Given the description of an element on the screen output the (x, y) to click on. 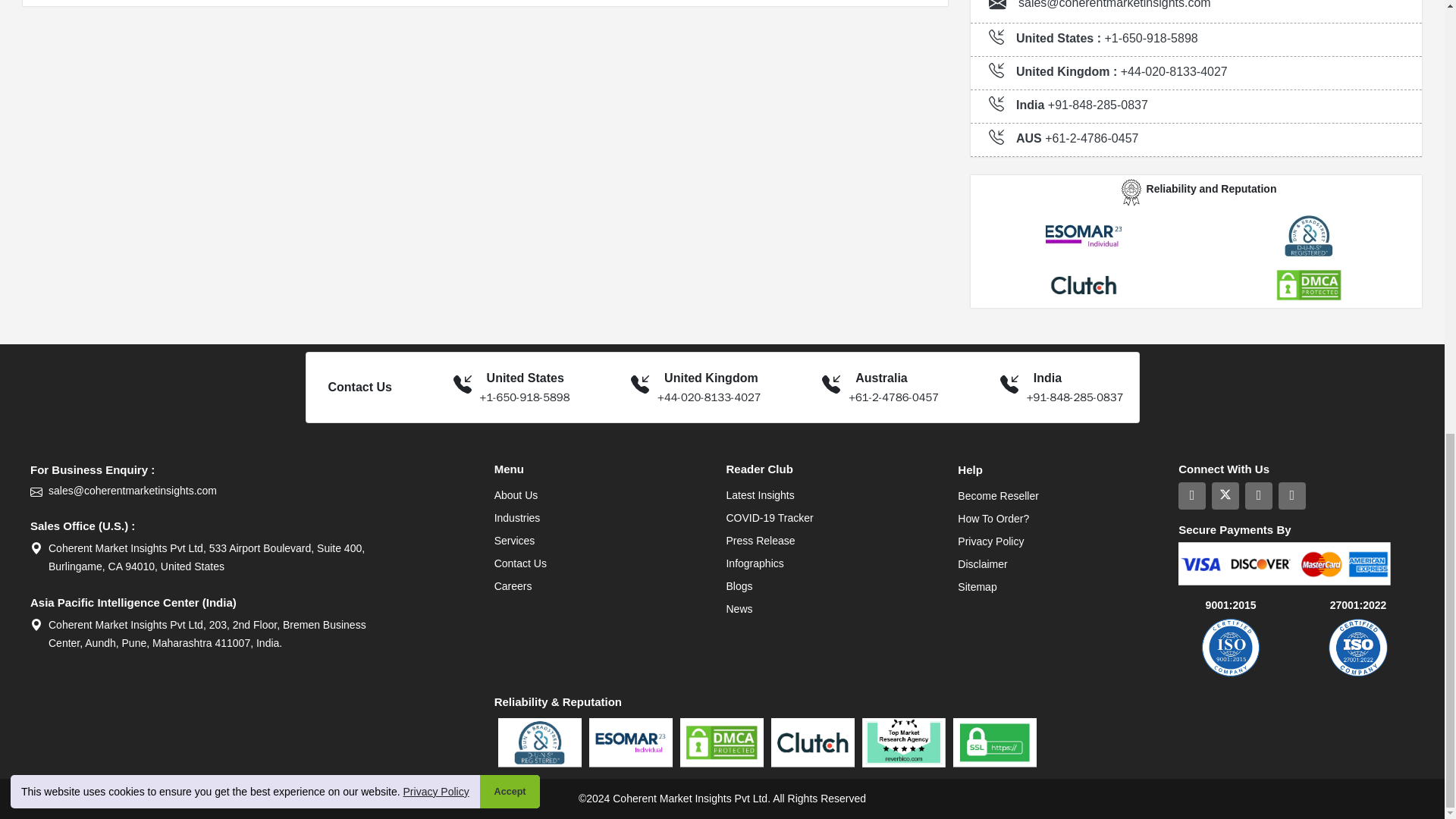
Reliability and Reputation (902, 742)
DMCA Protected (1308, 284)
Clutch (1083, 284)
Reliability and Reputation (812, 742)
DUNS Registered (1308, 236)
Reliability and Reputation (630, 742)
Reliability and Reputation (720, 742)
ISO 27001:2022 (1358, 647)
Reliability and Reputation (994, 742)
Payment Method (1283, 563)
ISO 9001:2015 (1229, 647)
ESOMAR (1083, 235)
Reliability and Reputation (538, 742)
Logo (1131, 191)
